Given the description of an element on the screen output the (x, y) to click on. 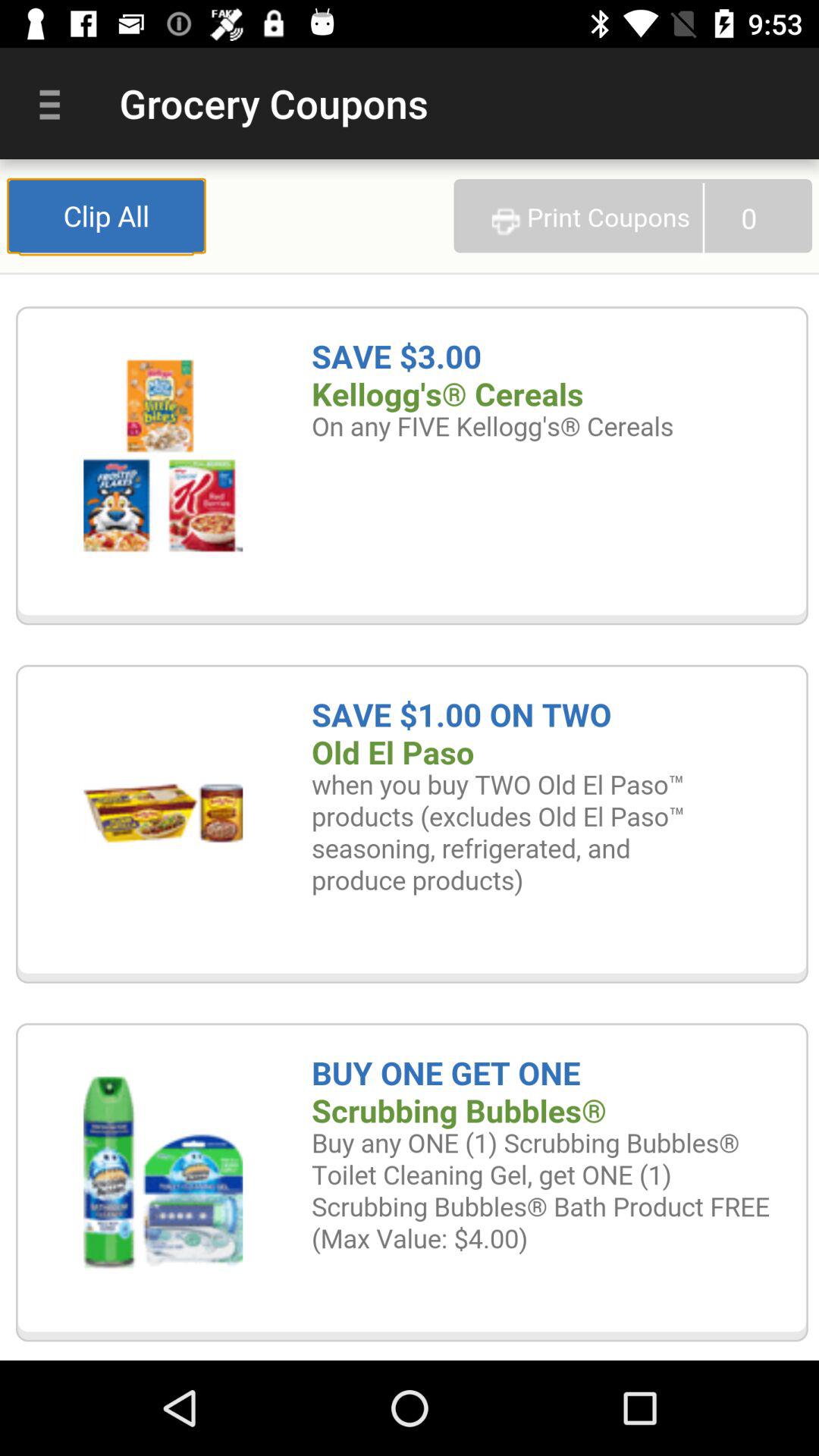
clip all the coupons (409, 759)
